Given the description of an element on the screen output the (x, y) to click on. 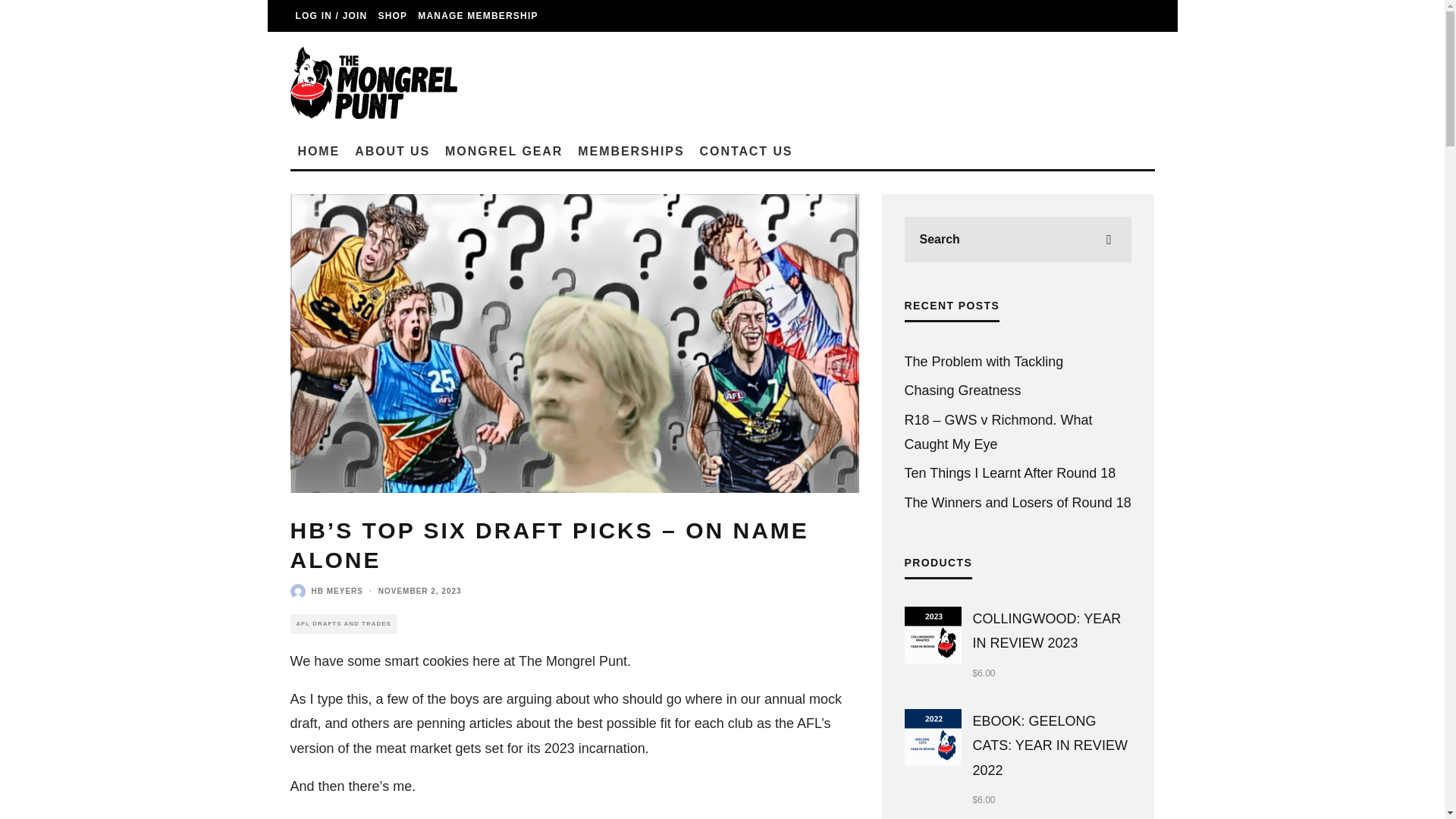
MANAGE MEMBERSHIP (477, 15)
MEMBERSHIPS (630, 151)
MONGREL GEAR (504, 151)
HB MEYERS (336, 591)
AFL DRAFTS AND TRADES (342, 623)
CONTACT US (746, 151)
HOME (318, 151)
SHOP (392, 15)
ABOUT US (392, 151)
